Given the description of an element on the screen output the (x, y) to click on. 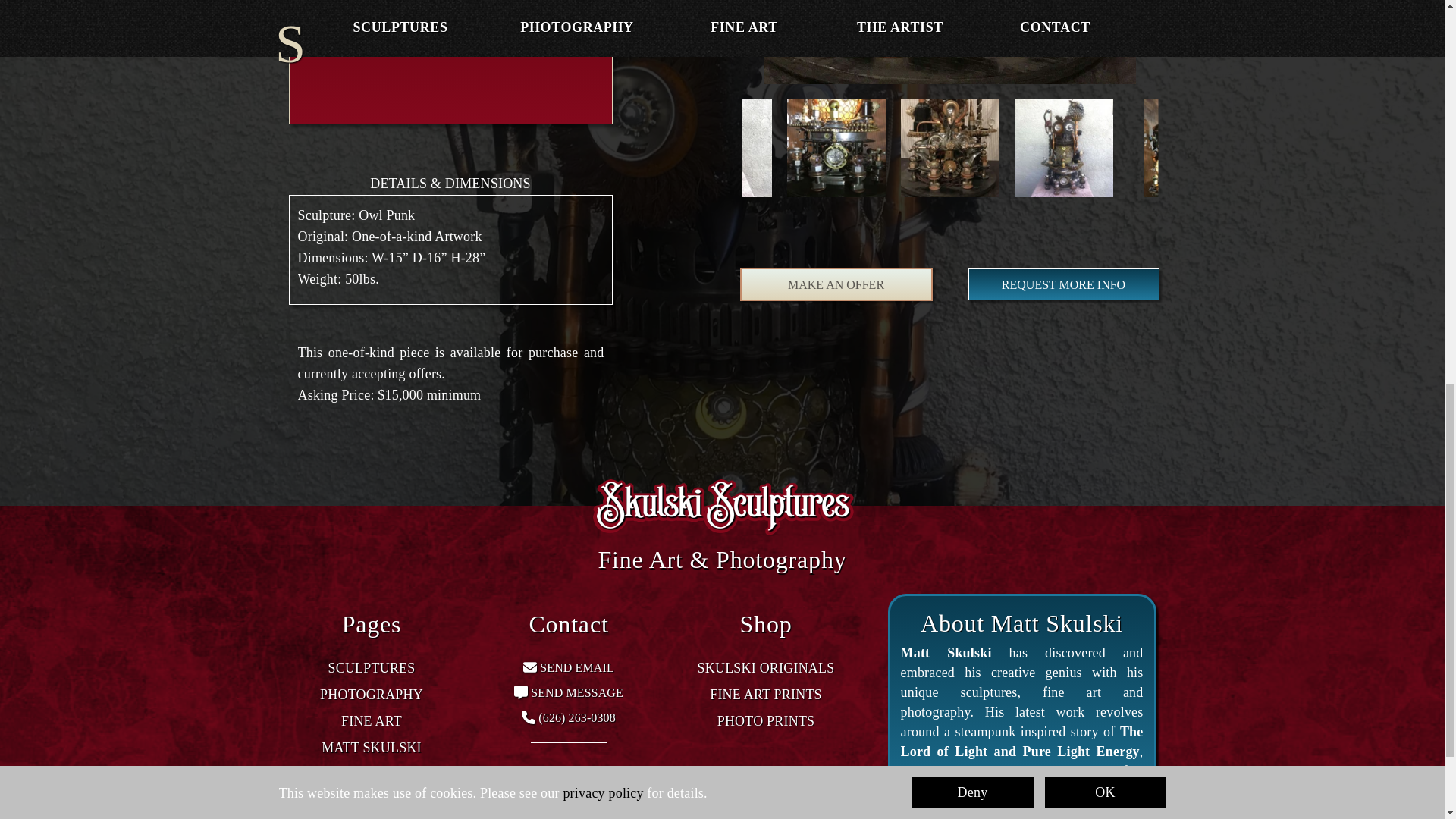
Envelope (529, 667)
Pinterest P (627, 811)
Envelope (529, 667)
Instagram (505, 812)
YouTube (582, 812)
YouTube (587, 811)
SEND MESSAGE (577, 692)
Phone (528, 717)
Pinterest P (622, 812)
SKULSKI ORIGINALS (765, 667)
Instagram (509, 811)
skulski sculptures (722, 507)
Phone (528, 716)
SEND EMAIL (575, 667)
Facebook F (547, 811)
